Given the description of an element on the screen output the (x, y) to click on. 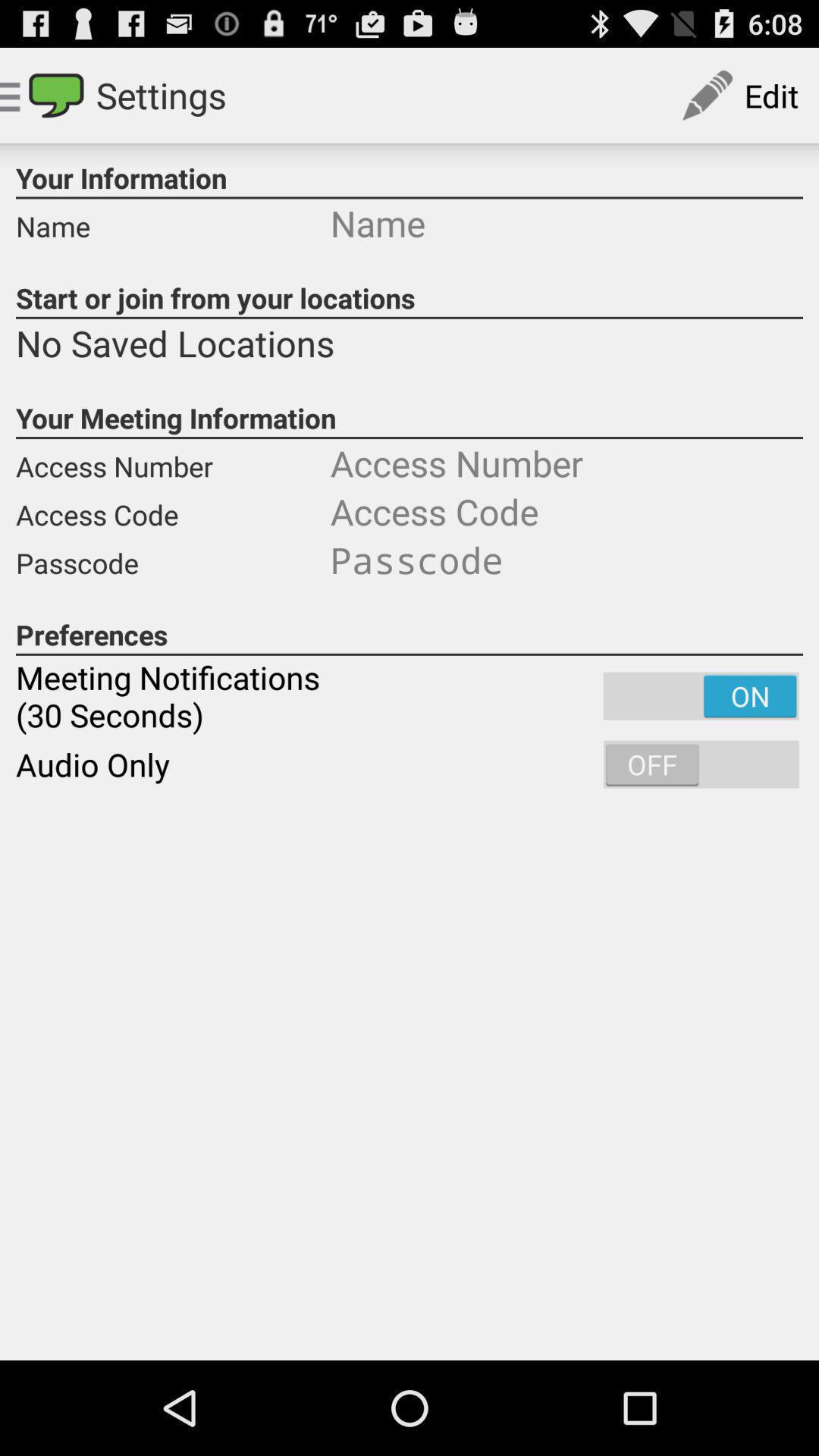
tap audio only icon (409, 764)
